Given the description of an element on the screen output the (x, y) to click on. 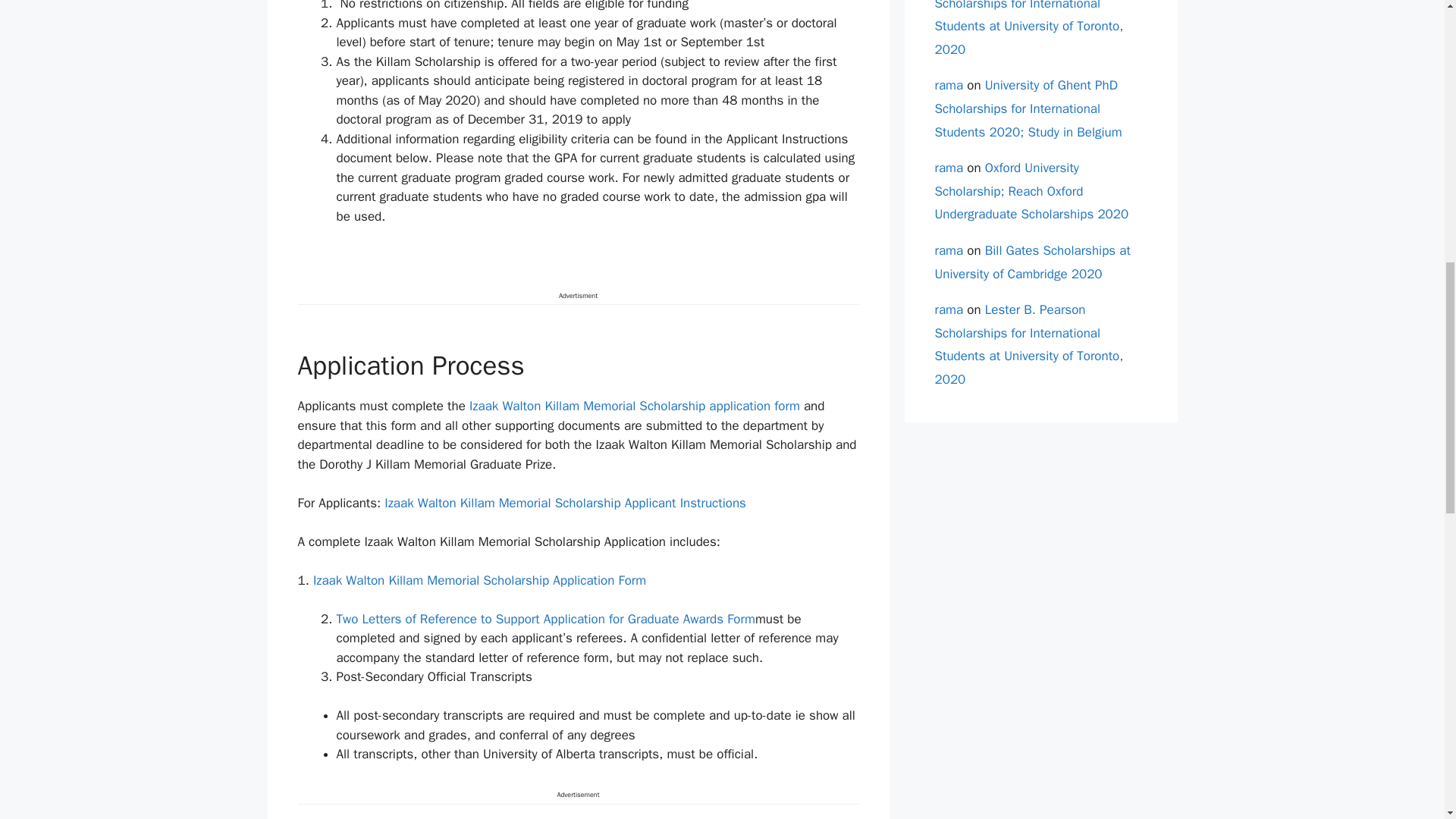
Bill Gates Scholarships at University of Cambridge 2020 (1031, 261)
rama (948, 250)
Izaak Walton Killam Memorial Scholarship Application Form (479, 580)
rama (948, 167)
Izaak Walton Killam Memorial Scholarship application form (633, 406)
rama (948, 309)
rama (948, 84)
